Given the description of an element on the screen output the (x, y) to click on. 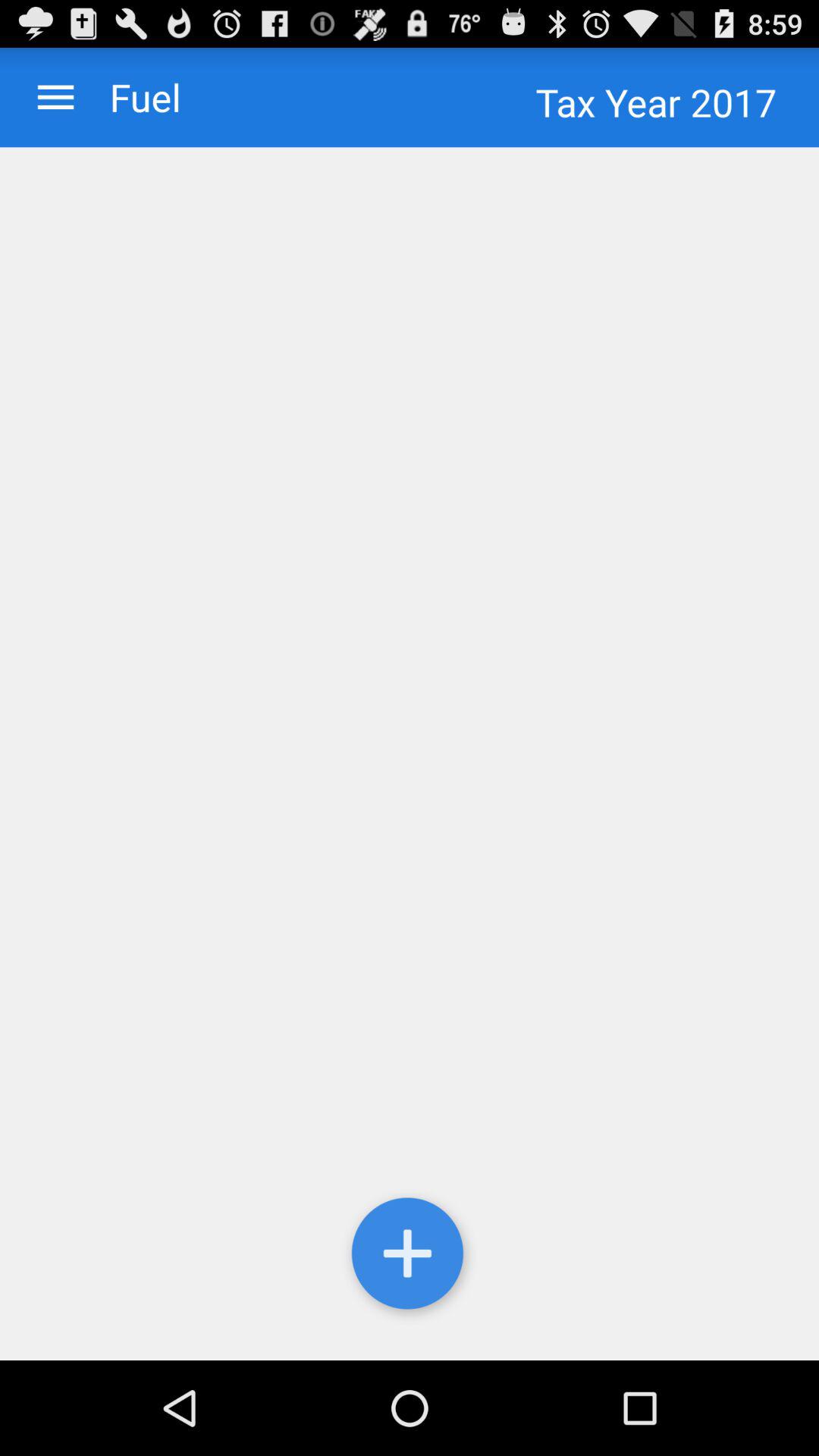
add new invoice (409, 1256)
